Given the description of an element on the screen output the (x, y) to click on. 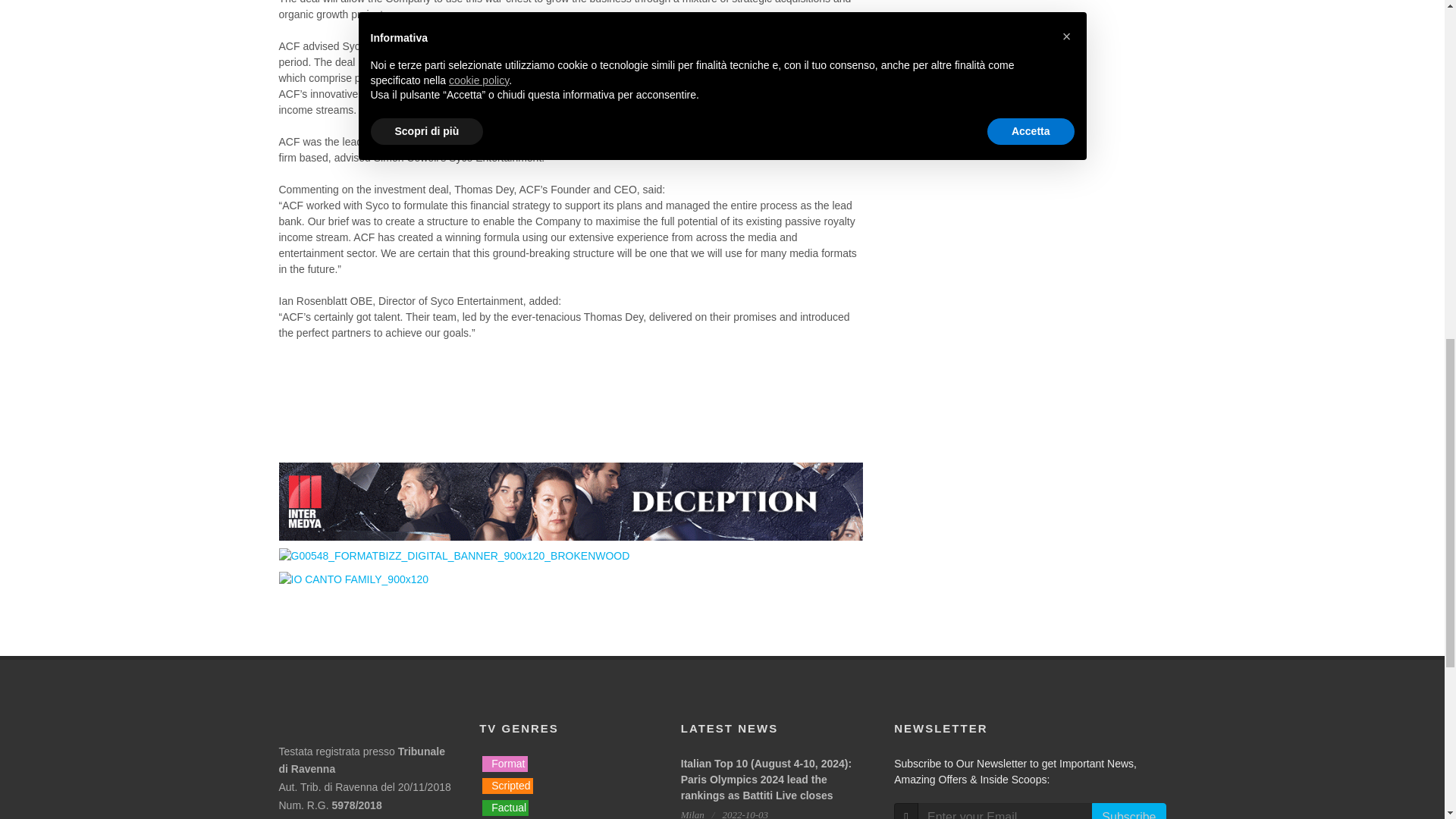
Scripted (506, 785)
Factual (504, 807)
Format (504, 763)
